Given the description of an element on the screen output the (x, y) to click on. 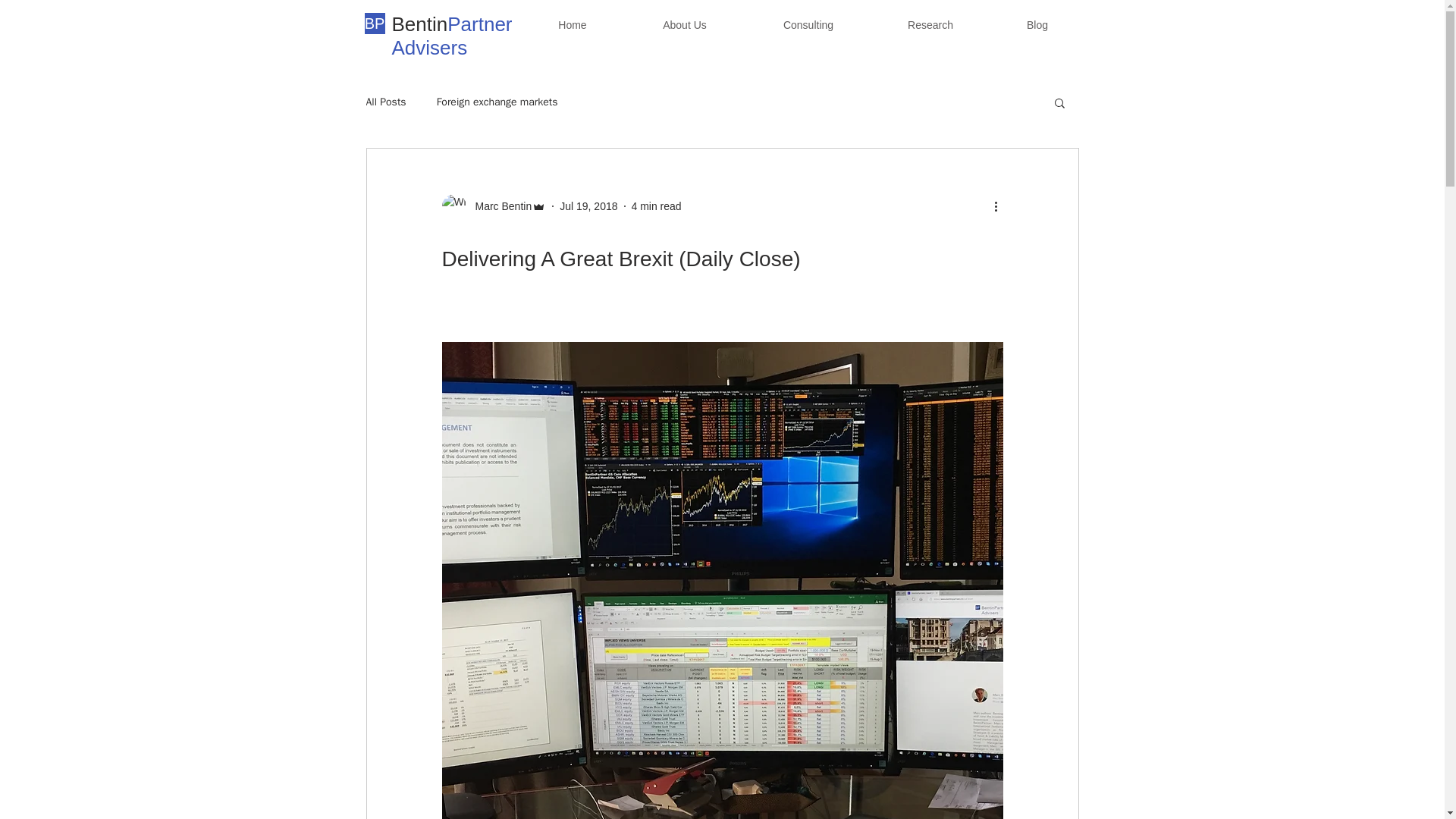
Marc Bentin (493, 206)
All Posts (385, 101)
BentinPartner Advisers (451, 35)
Home (571, 25)
Jul 19, 2018 (588, 205)
4 min read (655, 205)
Blog (1036, 25)
Marc Bentin (498, 206)
Foreign exchange markets (496, 101)
